Given the description of an element on the screen output the (x, y) to click on. 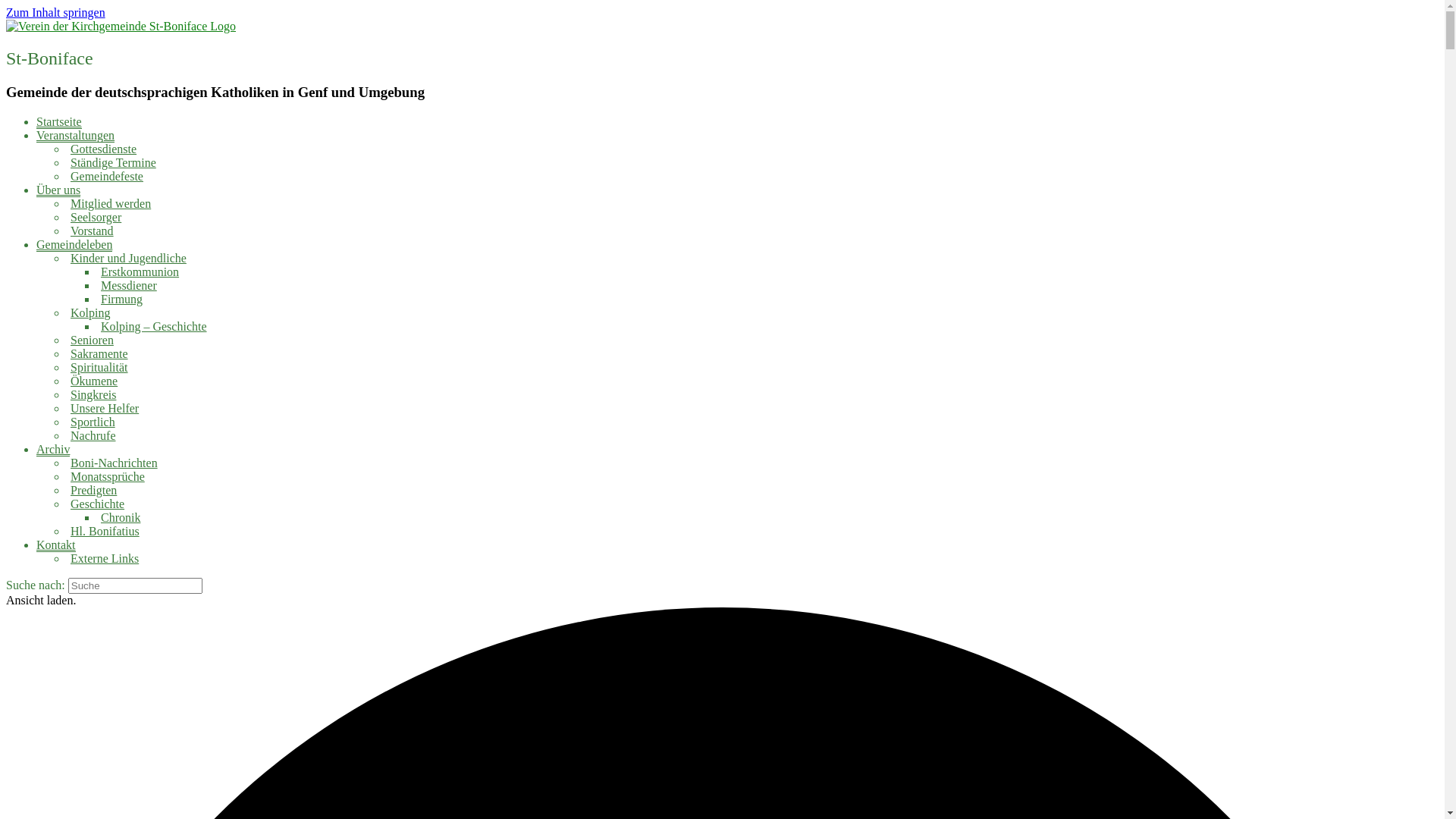
Kontakt Element type: text (55, 545)
Chronik Element type: text (118, 517)
Nachrufe Element type: text (91, 435)
Vorstand Element type: text (89, 230)
Kolping Element type: text (87, 312)
Mitglied werden Element type: text (108, 203)
Veranstaltungen Element type: text (75, 135)
Gemeindeleben Element type: text (74, 244)
Singkreis Element type: text (91, 394)
Messdiener Element type: text (126, 285)
Unsere Helfer Element type: text (102, 407)
Seelsorger Element type: text (93, 216)
Externe Links Element type: text (102, 558)
Gemeindefeste Element type: text (104, 175)
Senioren Element type: text (89, 339)
Geschichte Element type: text (95, 503)
Kinder und Jugendliche Element type: text (126, 257)
Sportlich Element type: text (90, 421)
Verein der Kirchgemeinde St-Boniface Element type: hover (120, 25)
Firmung Element type: text (119, 298)
Startseite Element type: text (58, 121)
Erstkommunion Element type: text (137, 271)
Zum Inhalt springen Element type: text (55, 12)
Sakramente Element type: text (97, 353)
Hl. Bonifatius Element type: text (102, 530)
Boni-Nachrichten Element type: text (111, 462)
Predigten Element type: text (91, 489)
Gottesdienste Element type: text (101, 148)
Archiv Element type: text (52, 449)
